Given the description of an element on the screen output the (x, y) to click on. 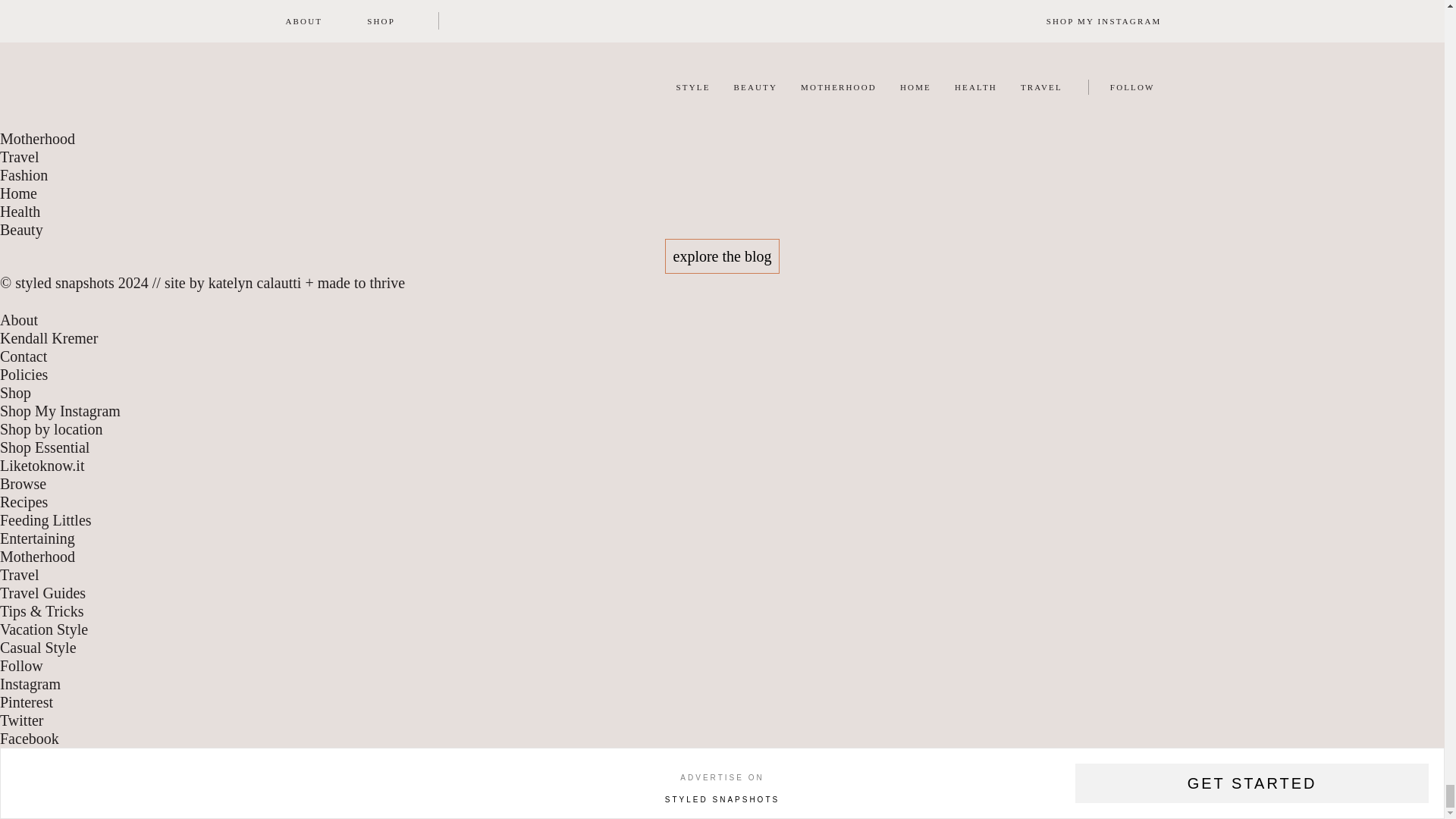
Get started with rewardStyle Media (1251, 783)
